Given the description of an element on the screen output the (x, y) to click on. 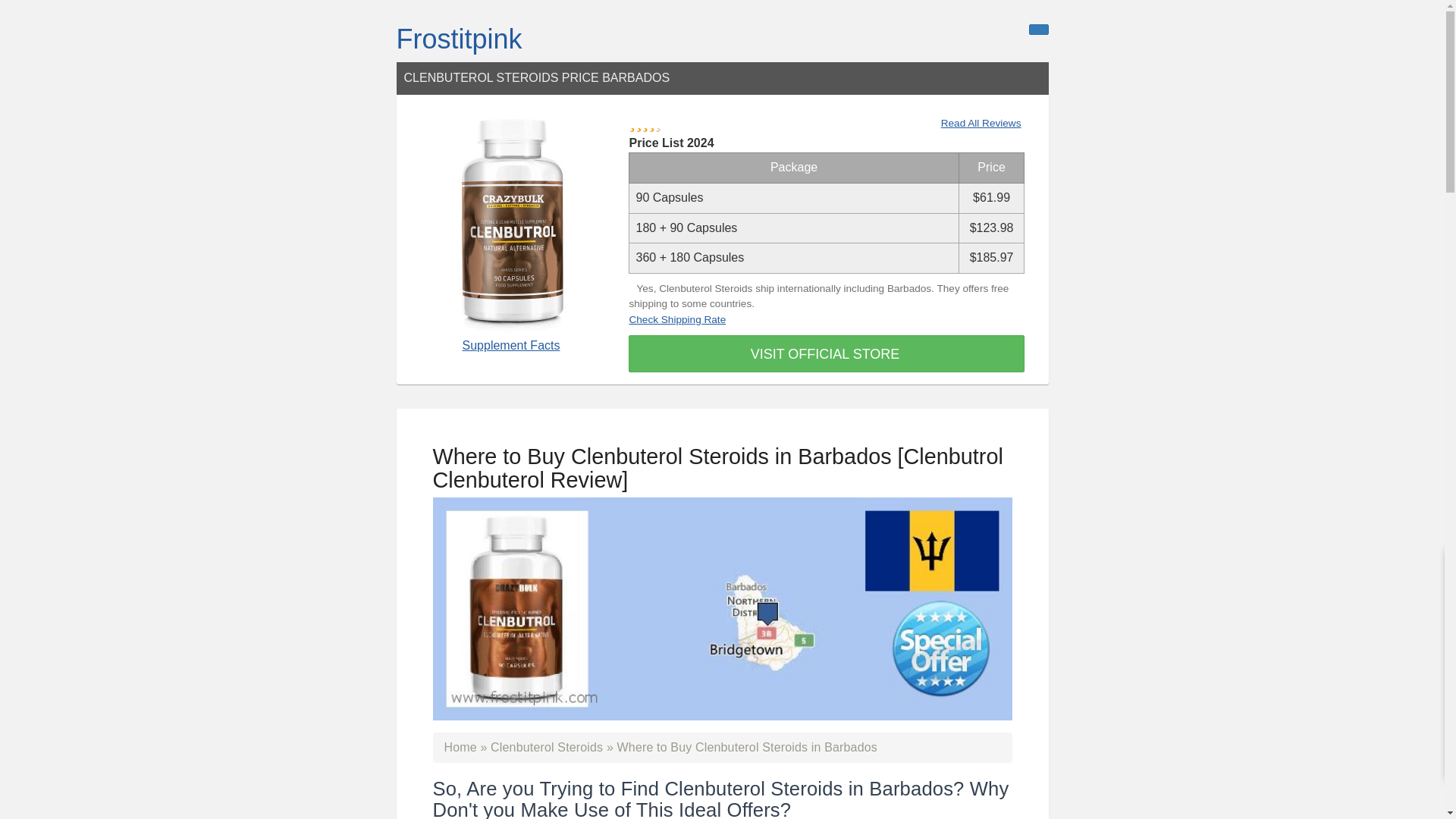
Home (460, 747)
Clenbuterol Steroids (546, 747)
Frostitpink (458, 38)
Frostitpink (458, 38)
Buy Clenbuterol Steroids Online  (546, 747)
